Given the description of an element on the screen output the (x, y) to click on. 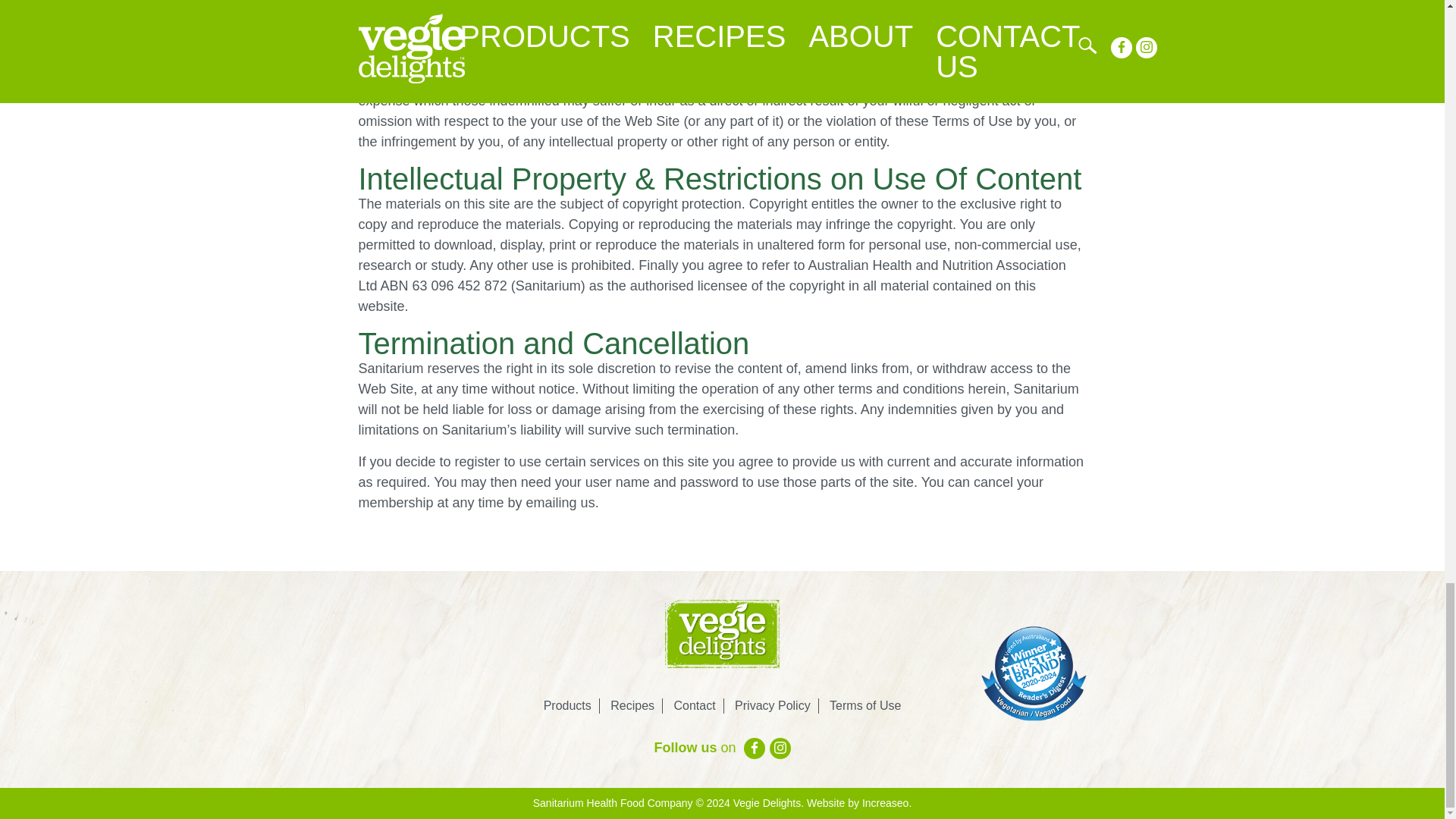
Facebook (754, 748)
Products (567, 705)
Contact (693, 705)
Instagram (780, 748)
Terms of Use (865, 705)
Recipes (631, 705)
Privacy Policy (772, 705)
